Given the description of an element on the screen output the (x, y) to click on. 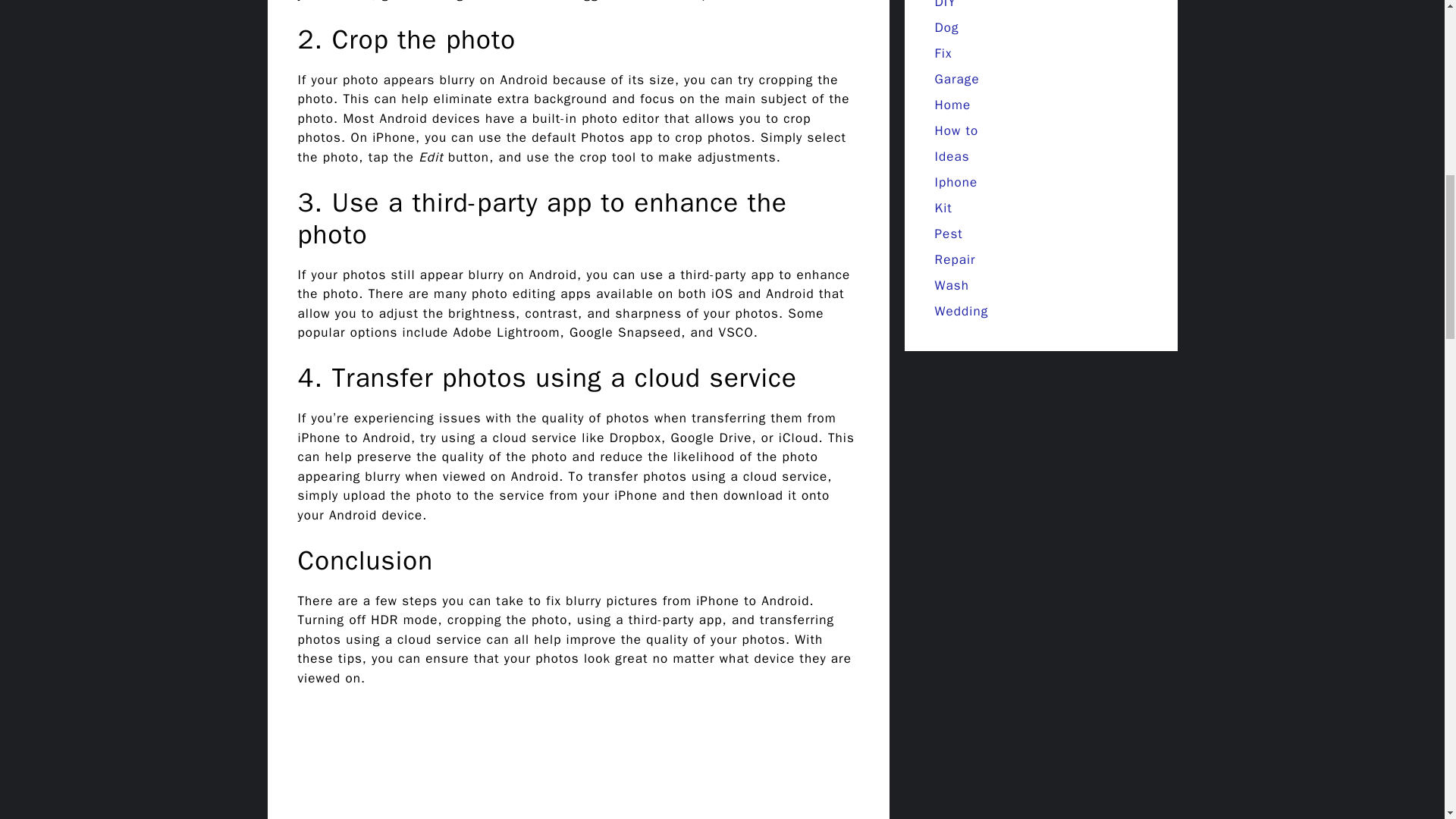
DIY (944, 4)
Dog (946, 27)
Fix (943, 53)
